Given the description of an element on the screen output the (x, y) to click on. 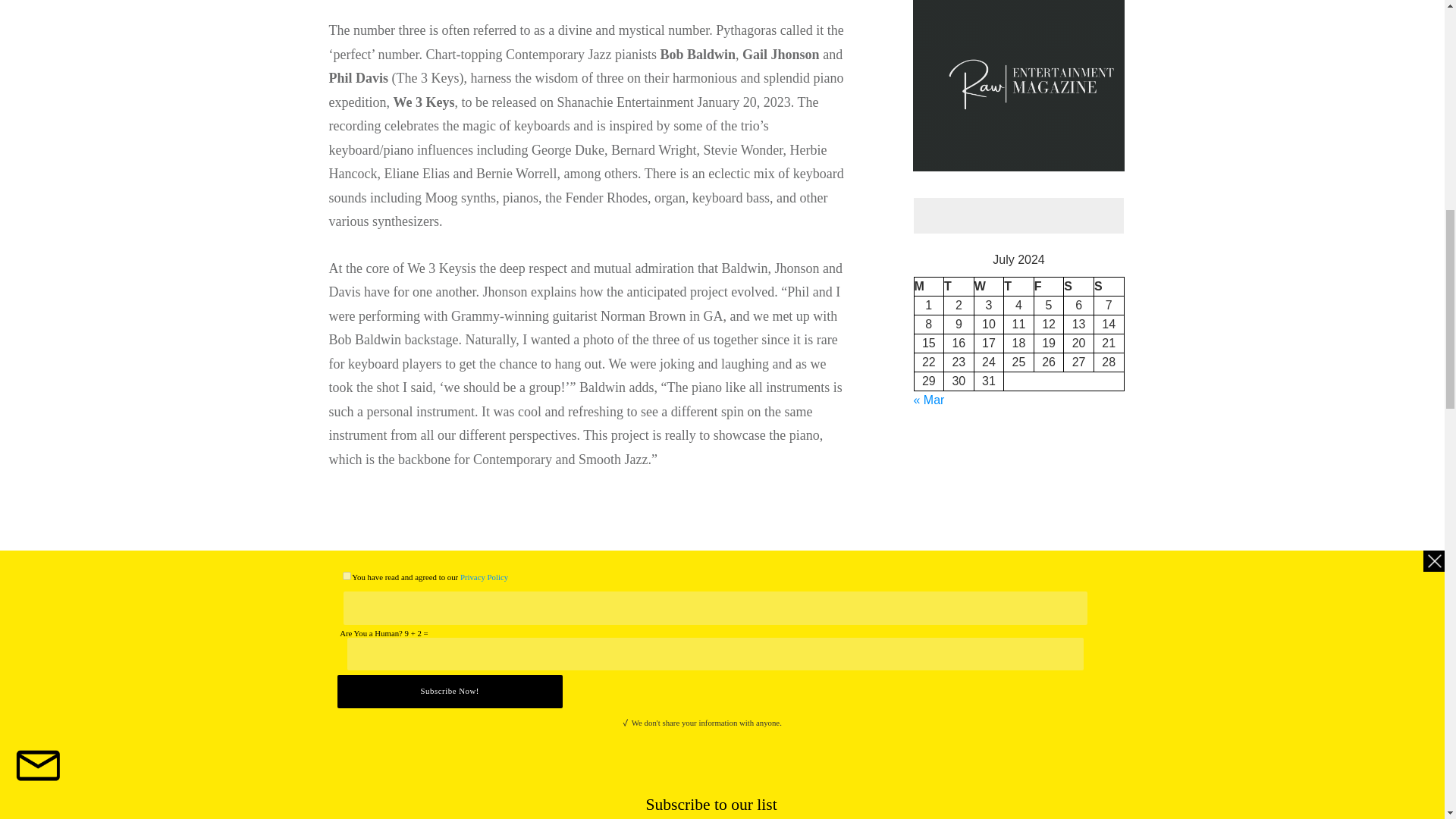
Friday (1048, 285)
Shanachie Entertainment (371, 737)
Sunday (1108, 285)
Monday (928, 285)
Thursday (1018, 285)
Tuesday (958, 285)
Saturday (1079, 285)
Wednesday (989, 285)
